Given the description of an element on the screen output the (x, y) to click on. 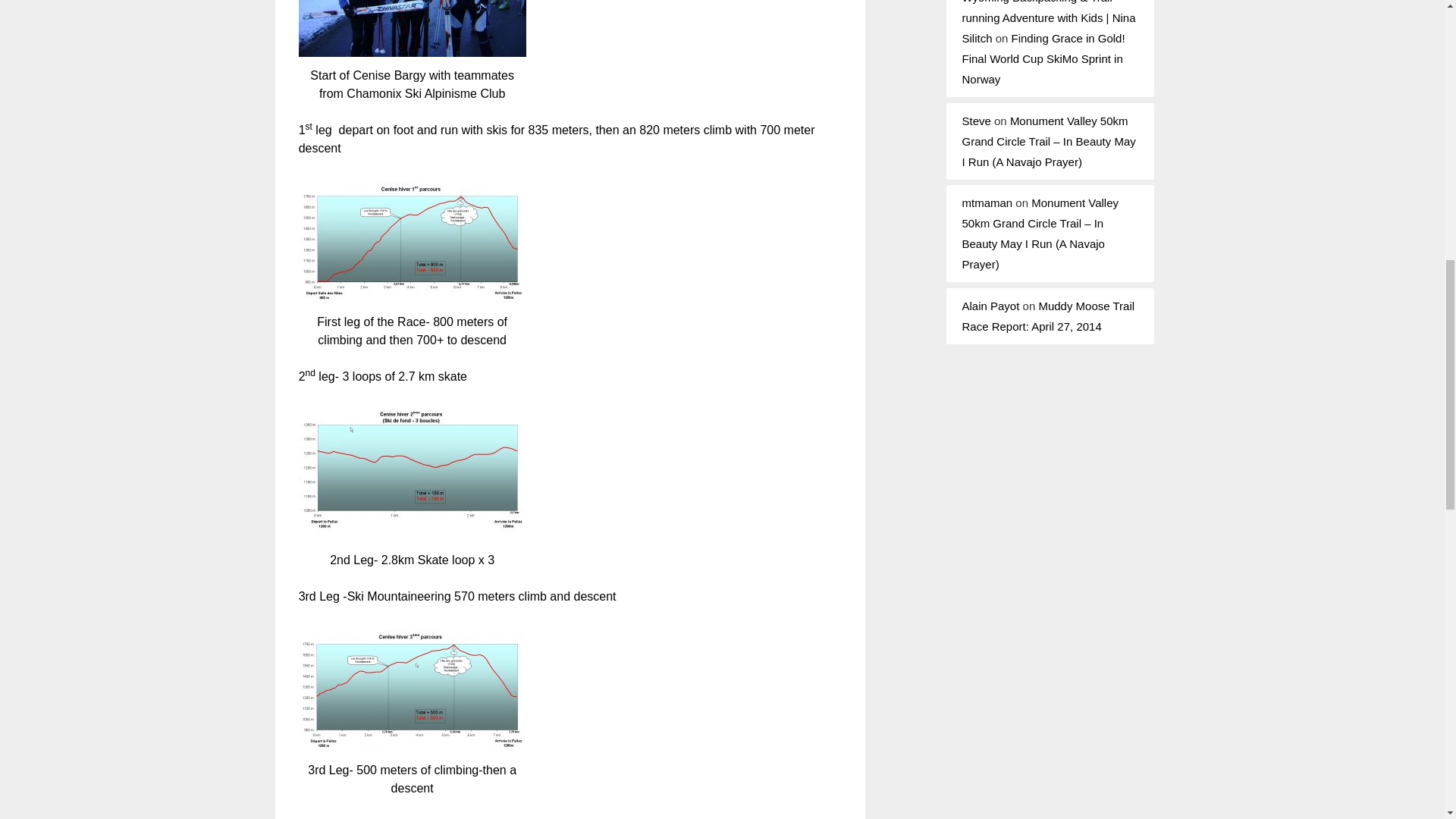
CENISE HIVER 1 parcours (411, 239)
CENISE HIVER Profil 2eme parcours (411, 472)
CENISE HIVER Profil 3eme parcours (411, 687)
mtmaman (985, 202)
Steve (975, 119)
Start -Cenise Bargy  (411, 28)
